Given the description of an element on the screen output the (x, y) to click on. 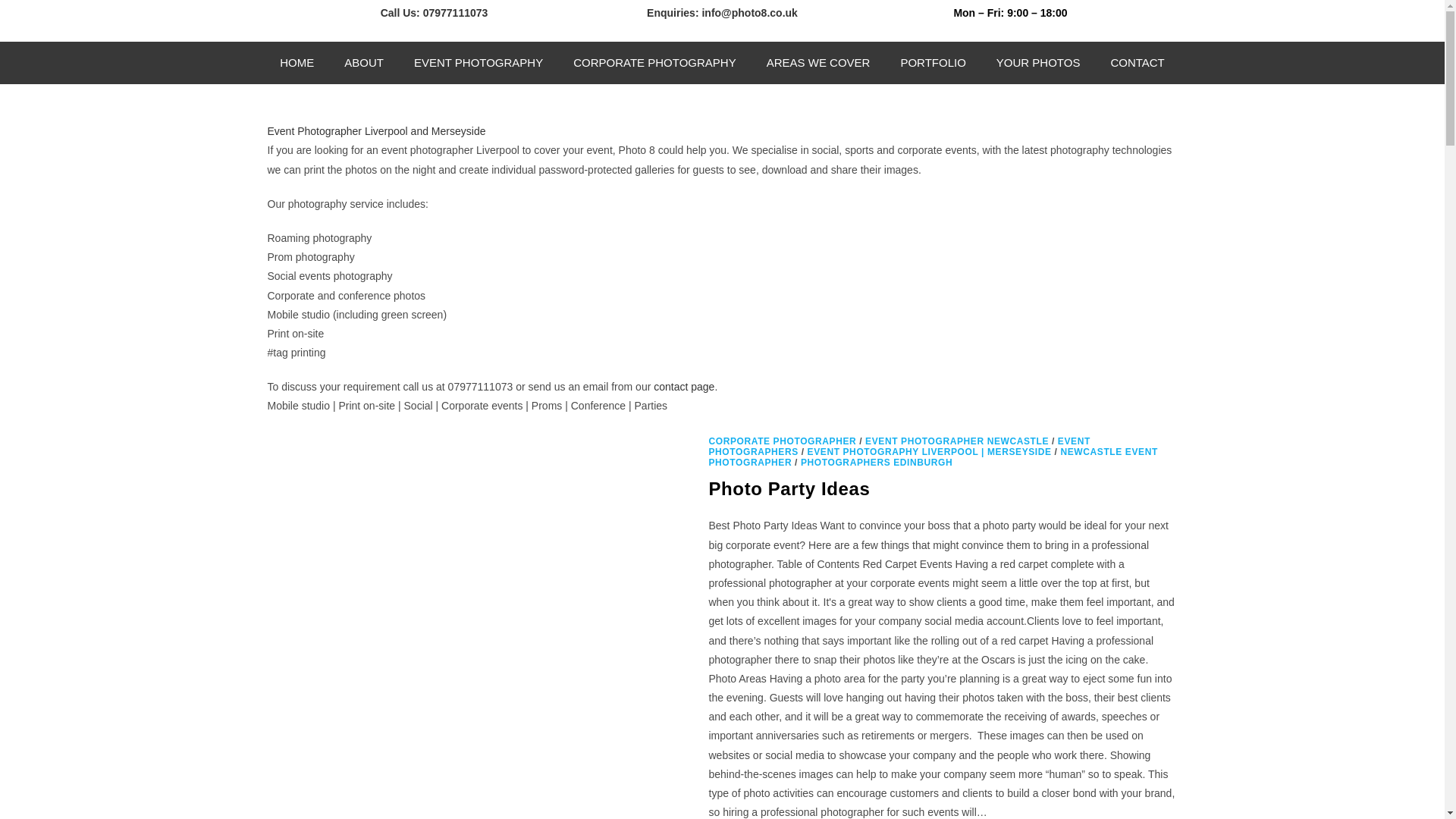
Corporate photography (654, 62)
HOME (296, 62)
CORPORATE PHOTOGRAPHY (654, 62)
YOUR PHOTOS (1038, 62)
PORTFOLIO (932, 62)
Call Us: 07977111073 (433, 12)
CONTACT (1136, 62)
AREAS WE COVER (818, 62)
ABOUT (363, 62)
